Given the description of an element on the screen output the (x, y) to click on. 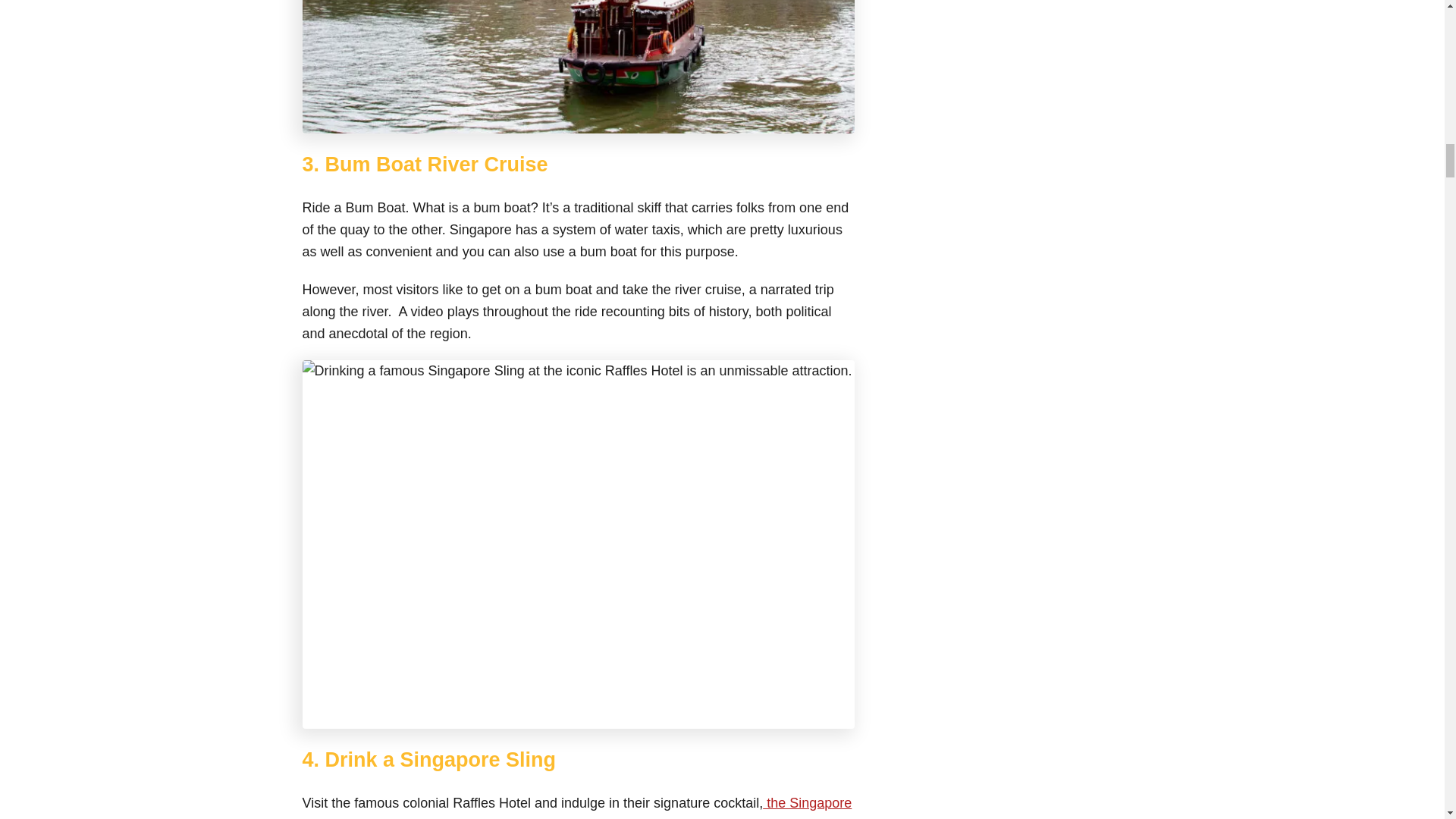
the Singapore Sling. (576, 807)
